Given the description of an element on the screen output the (x, y) to click on. 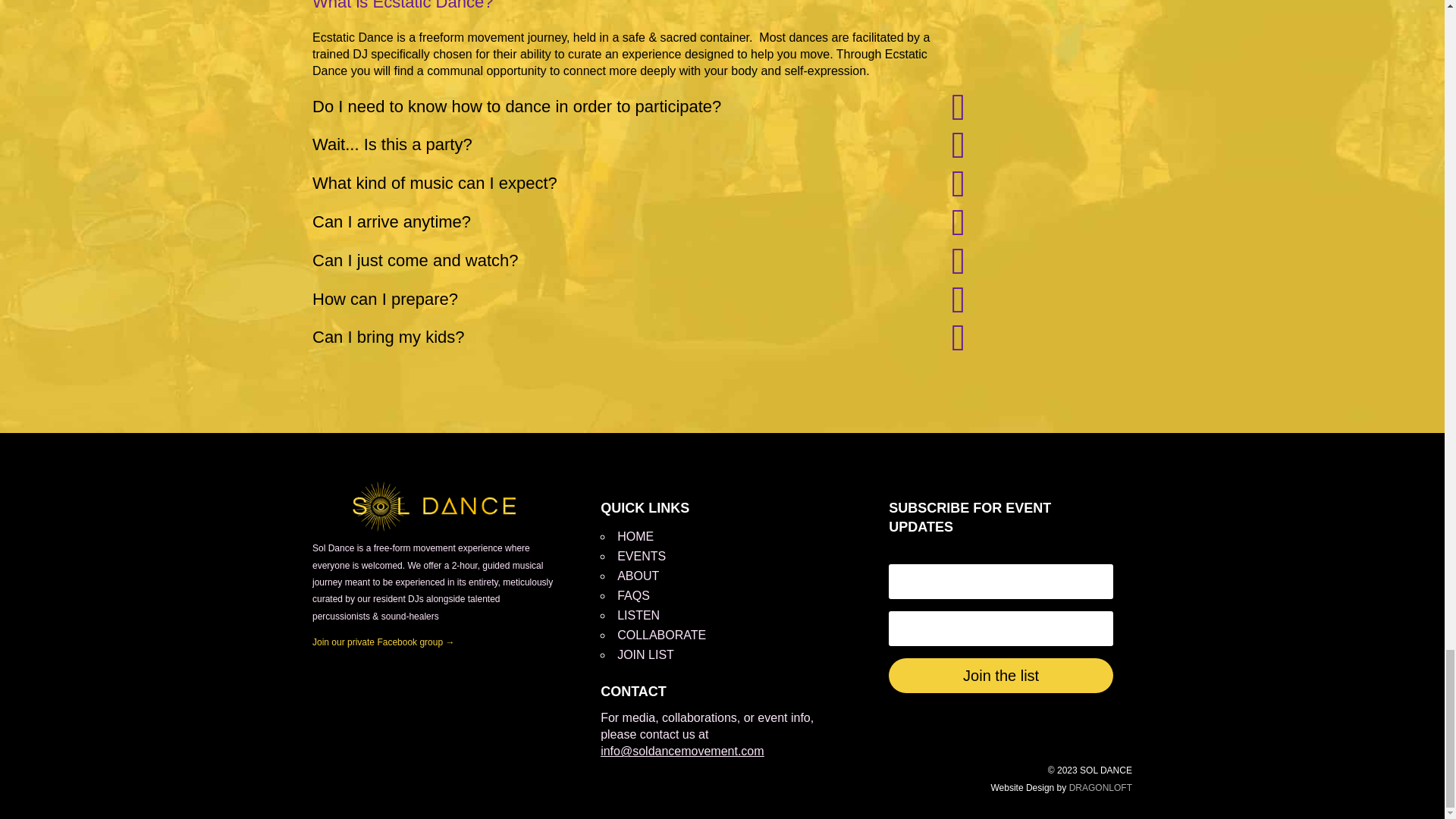
logogoldSMALL (433, 506)
HOME (635, 535)
EVENTS (641, 555)
ABOUT (638, 575)
